Given the description of an element on the screen output the (x, y) to click on. 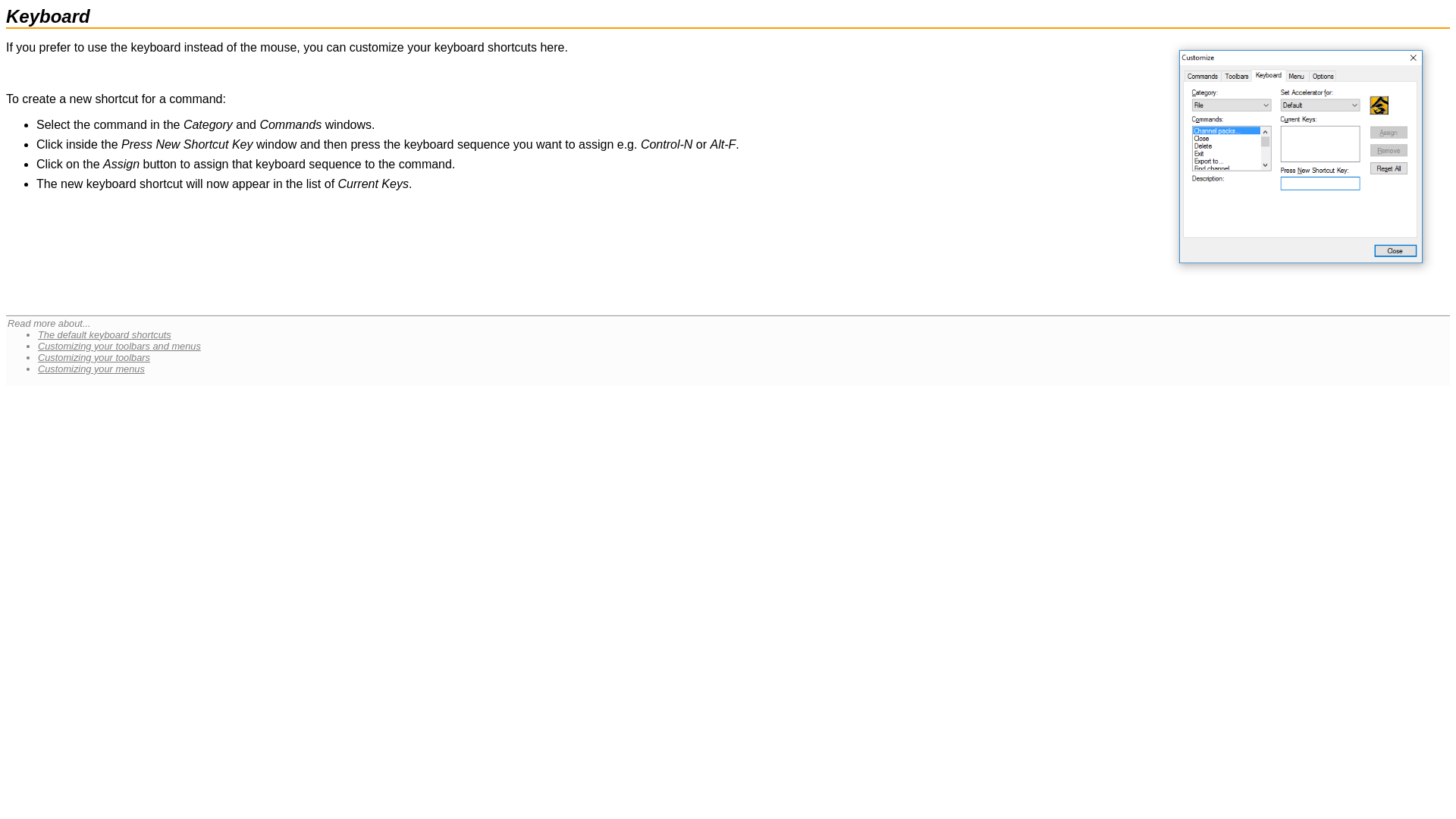
Customizing your toolbars (93, 357)
The default keyboard shortcuts (104, 334)
Customizing your toolbars and menus (118, 346)
Customizing your menus (90, 368)
